Given the description of an element on the screen output the (x, y) to click on. 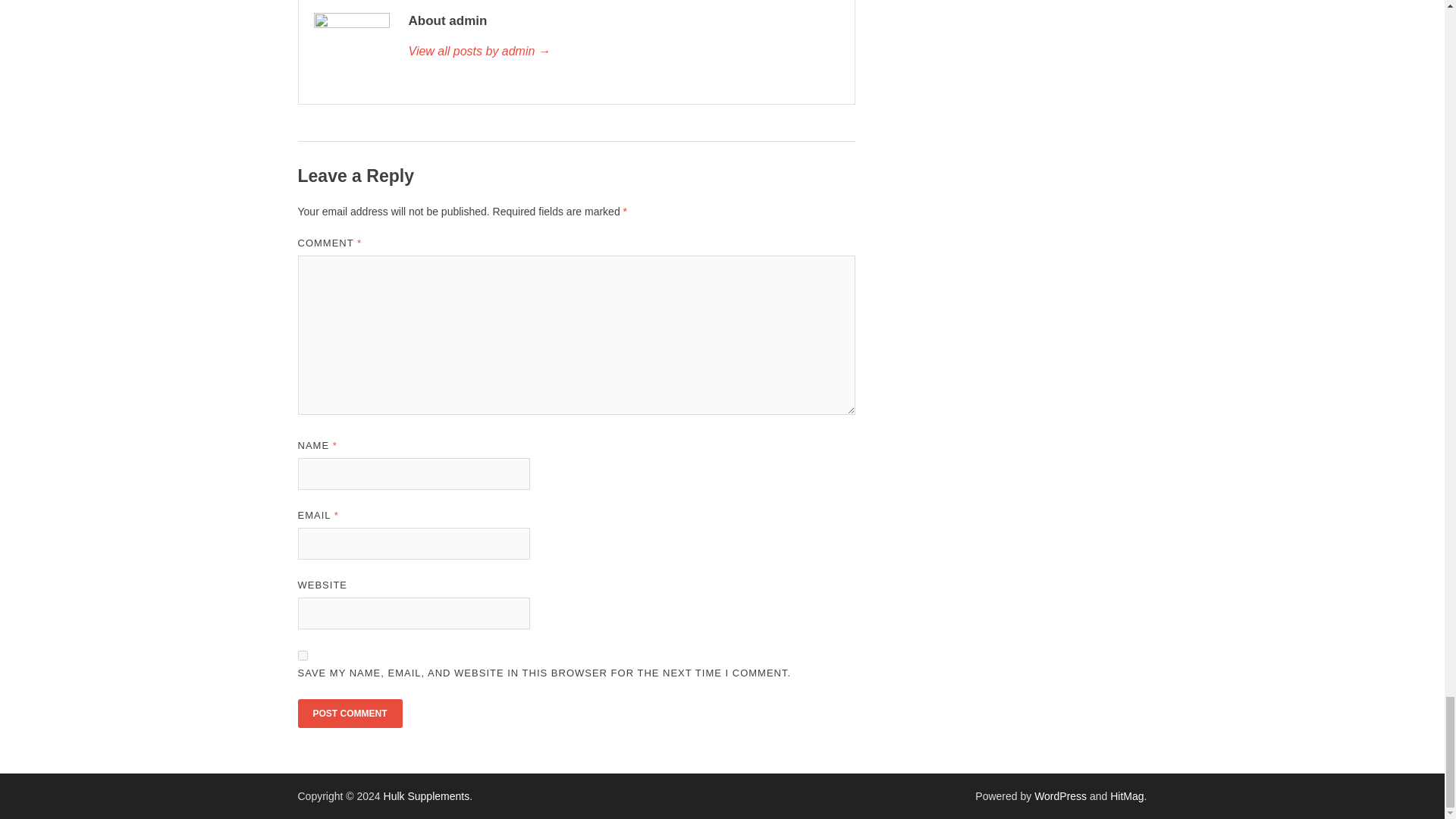
HitMag WordPress Theme (1125, 796)
admin (622, 51)
Hulk Supplements (427, 796)
Post Comment (349, 713)
WordPress (1059, 796)
yes (302, 655)
